Given the description of an element on the screen output the (x, y) to click on. 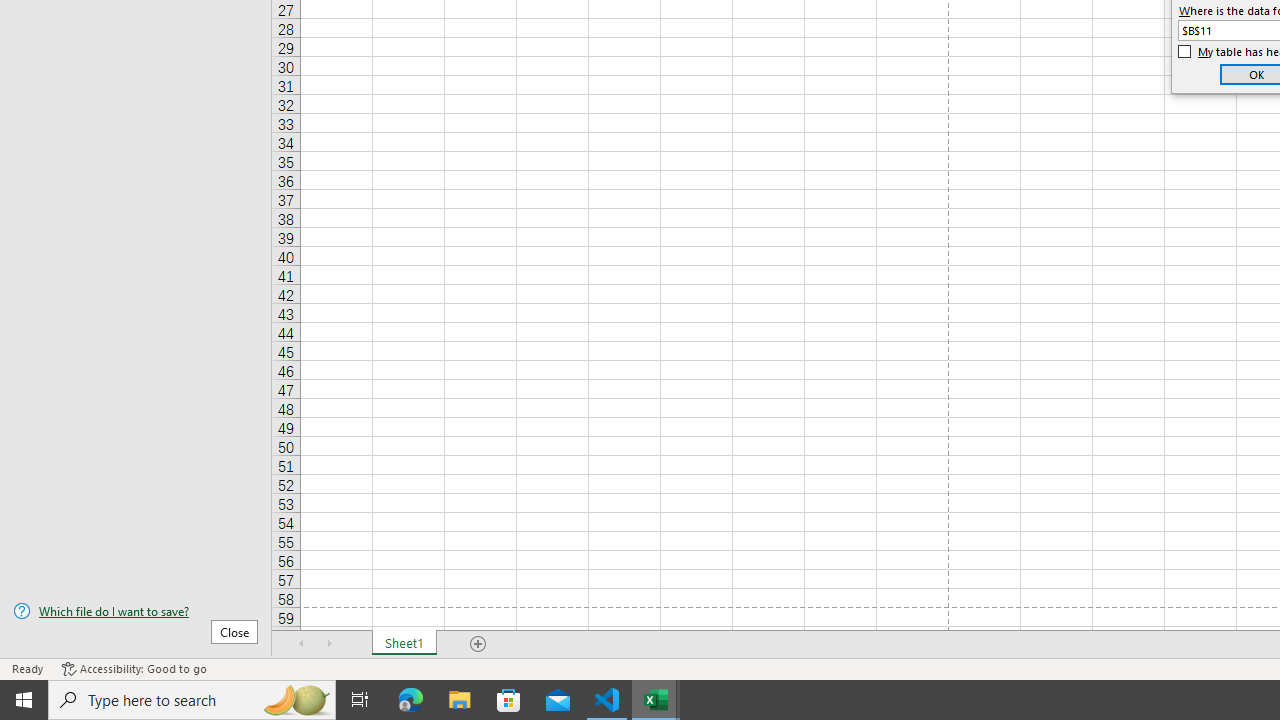
Which file do I want to save? (136, 611)
